Given the description of an element on the screen output the (x, y) to click on. 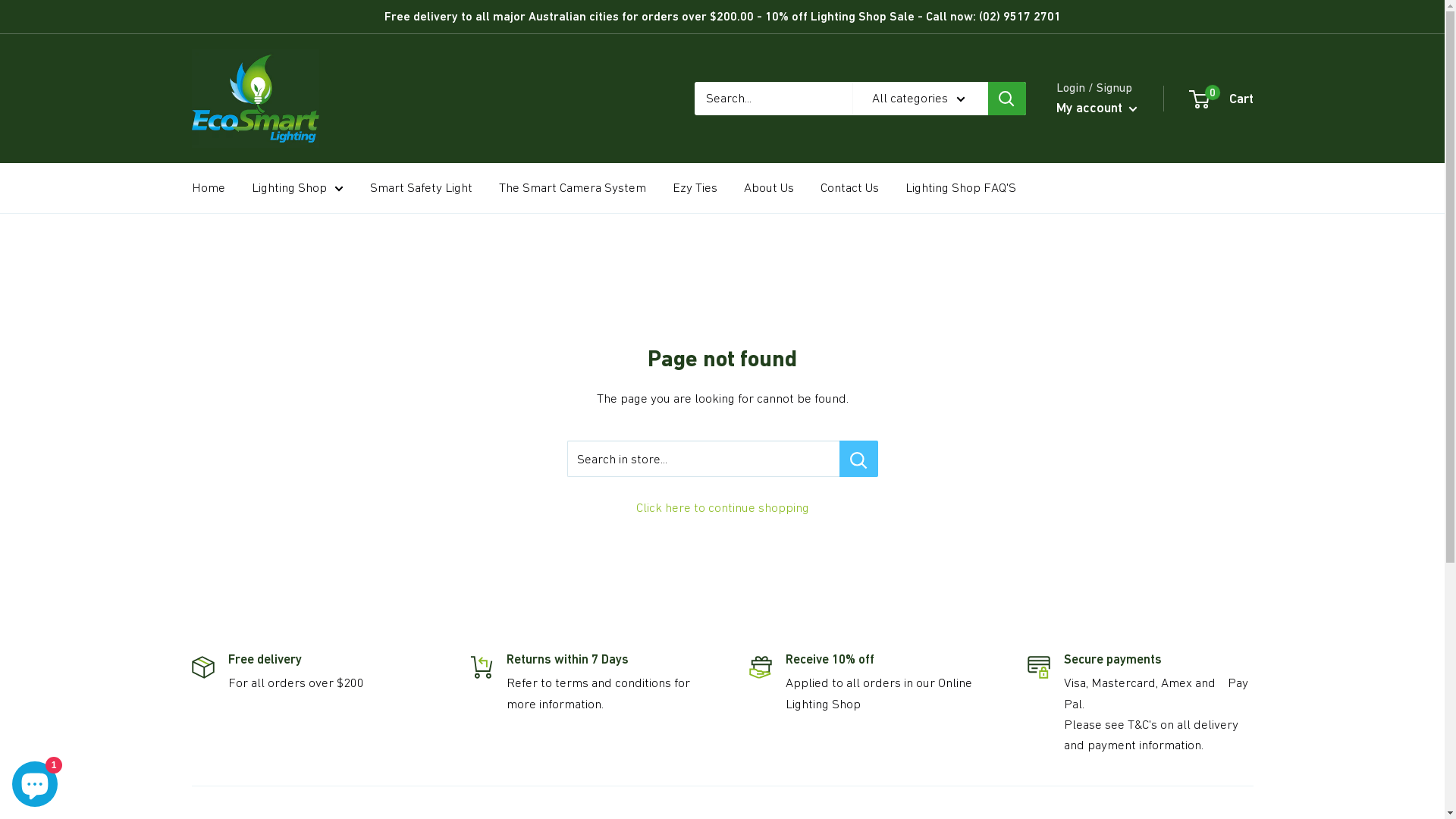
About Us Element type: text (768, 187)
Ezy Ties Element type: text (693, 187)
Click here to continue shopping Element type: text (721, 506)
Home Element type: text (207, 187)
Shopify online store chat Element type: hover (34, 780)
0
Cart Element type: text (1221, 98)
Contact Us Element type: text (849, 187)
Lighting Shop Element type: text (297, 187)
My account Element type: text (1095, 107)
Smart Safety Light Element type: text (421, 187)
The Smart Camera System Element type: text (572, 187)
Lighting Shop FAQ'S Element type: text (960, 187)
